Given the description of an element on the screen output the (x, y) to click on. 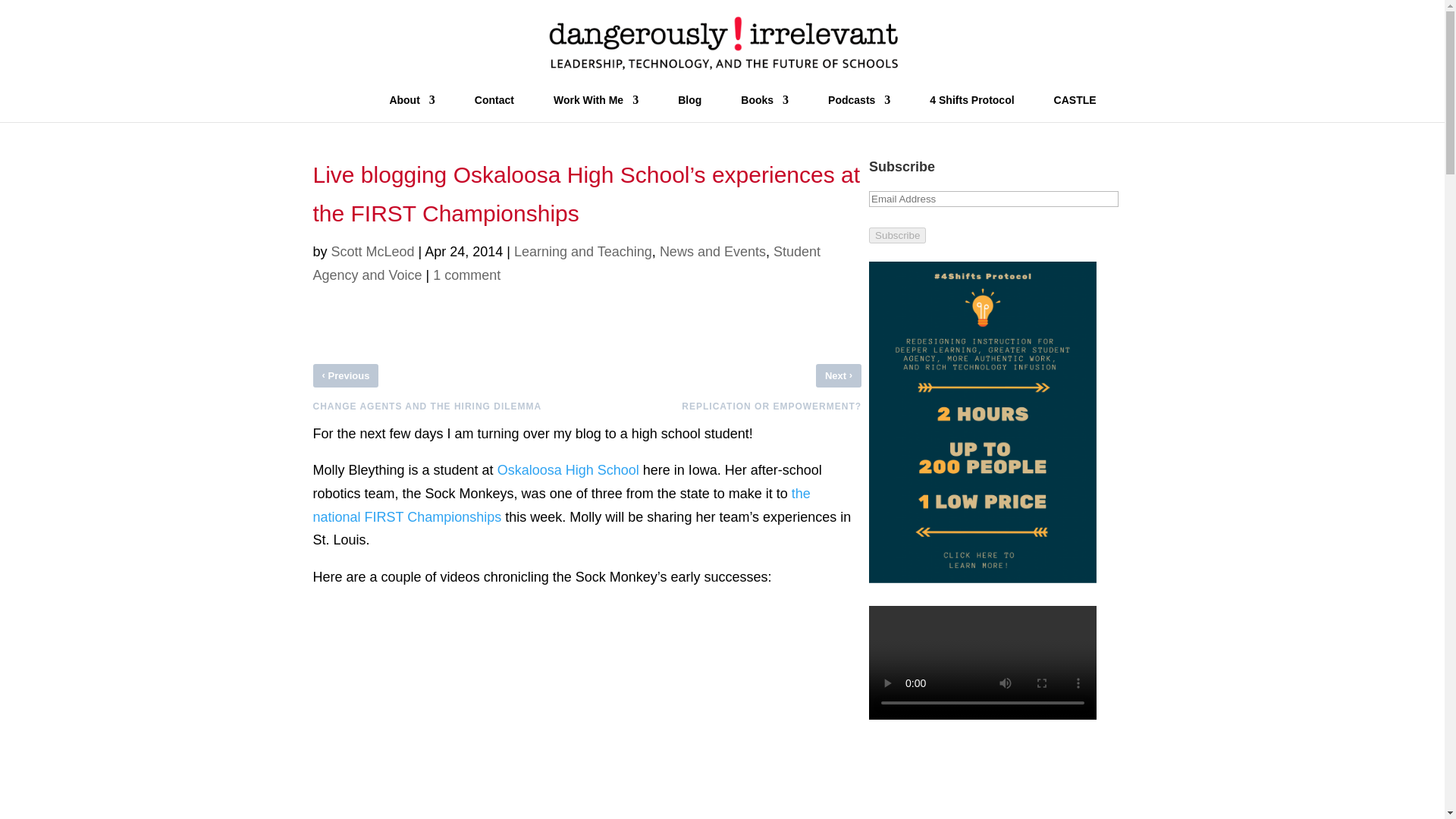
Work With Me (596, 108)
Oskaloosa High School (568, 469)
1 comment (466, 274)
News and Events (712, 251)
4 Shifts Protocol (971, 108)
Student Agency and Voice (567, 263)
About (410, 108)
Scott McLeod (372, 251)
Contact (493, 108)
CASTLE (1075, 108)
Posts by Scott McLeod (372, 251)
Podcasts (858, 108)
Books (765, 108)
the national FIRST Championships (561, 505)
Learning and Teaching (582, 251)
